Given the description of an element on the screen output the (x, y) to click on. 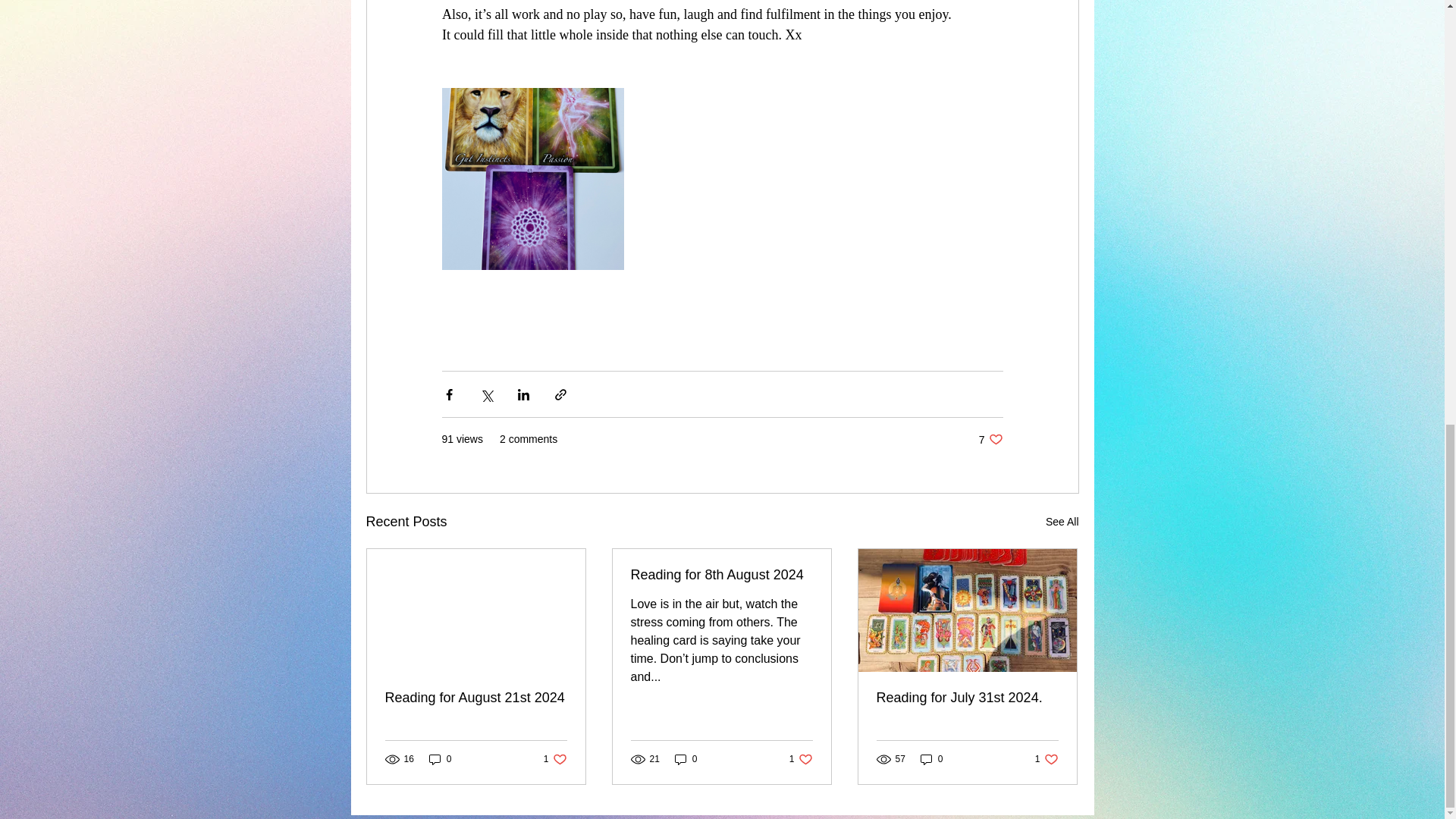
See All (555, 759)
Reading for 8th August 2024 (1061, 522)
Reading for July 31st 2024. (721, 575)
0 (800, 759)
0 (967, 697)
0 (931, 759)
Reading for August 21st 2024 (440, 759)
